Given the description of an element on the screen output the (x, y) to click on. 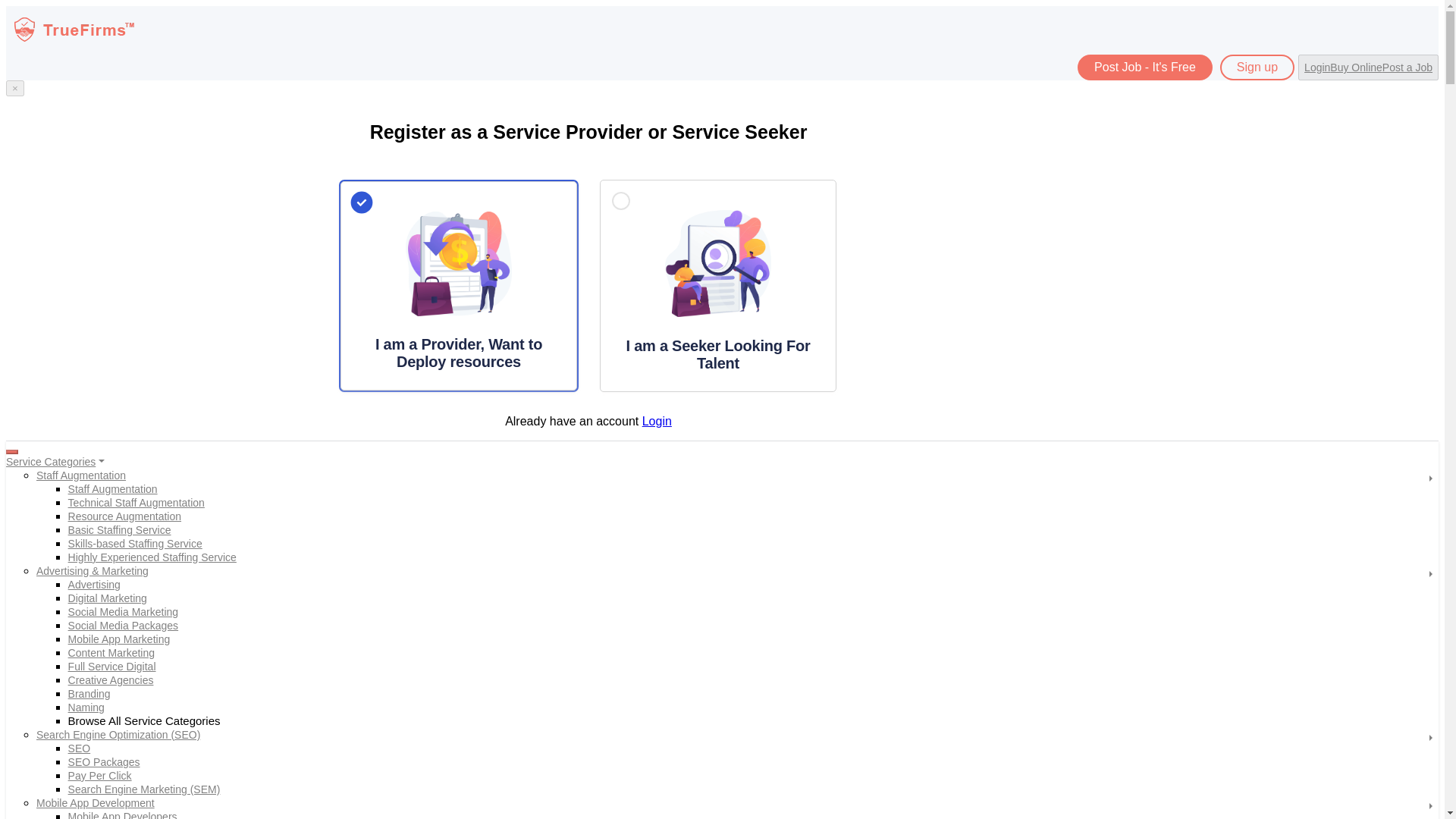
Resource Augmentation (124, 516)
Post Job - It's Free (1144, 66)
Login (656, 420)
Buy Online (1355, 67)
Highly Experienced Staffing Service (151, 557)
SEO Packages (103, 761)
Naming (86, 707)
Sign up (1257, 67)
Mobile App Developers (122, 814)
Advertising (94, 584)
